Given the description of an element on the screen output the (x, y) to click on. 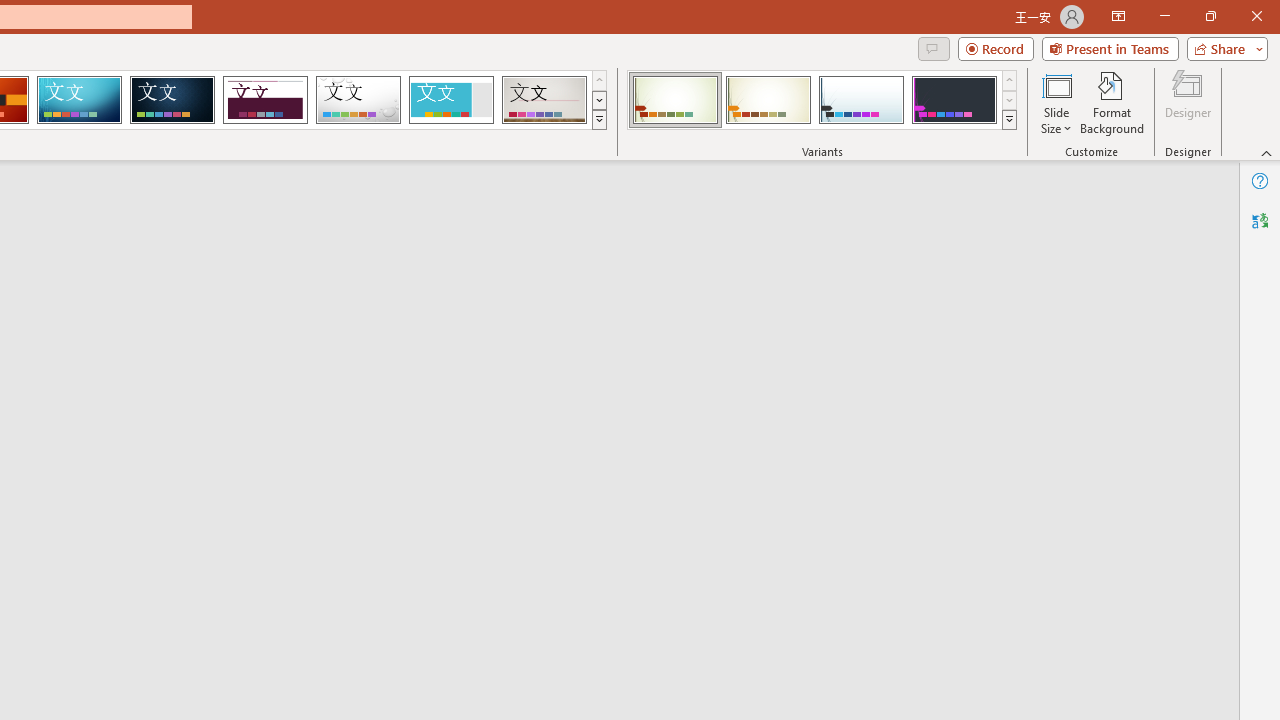
Gallery (544, 100)
